Given the description of an element on the screen output the (x, y) to click on. 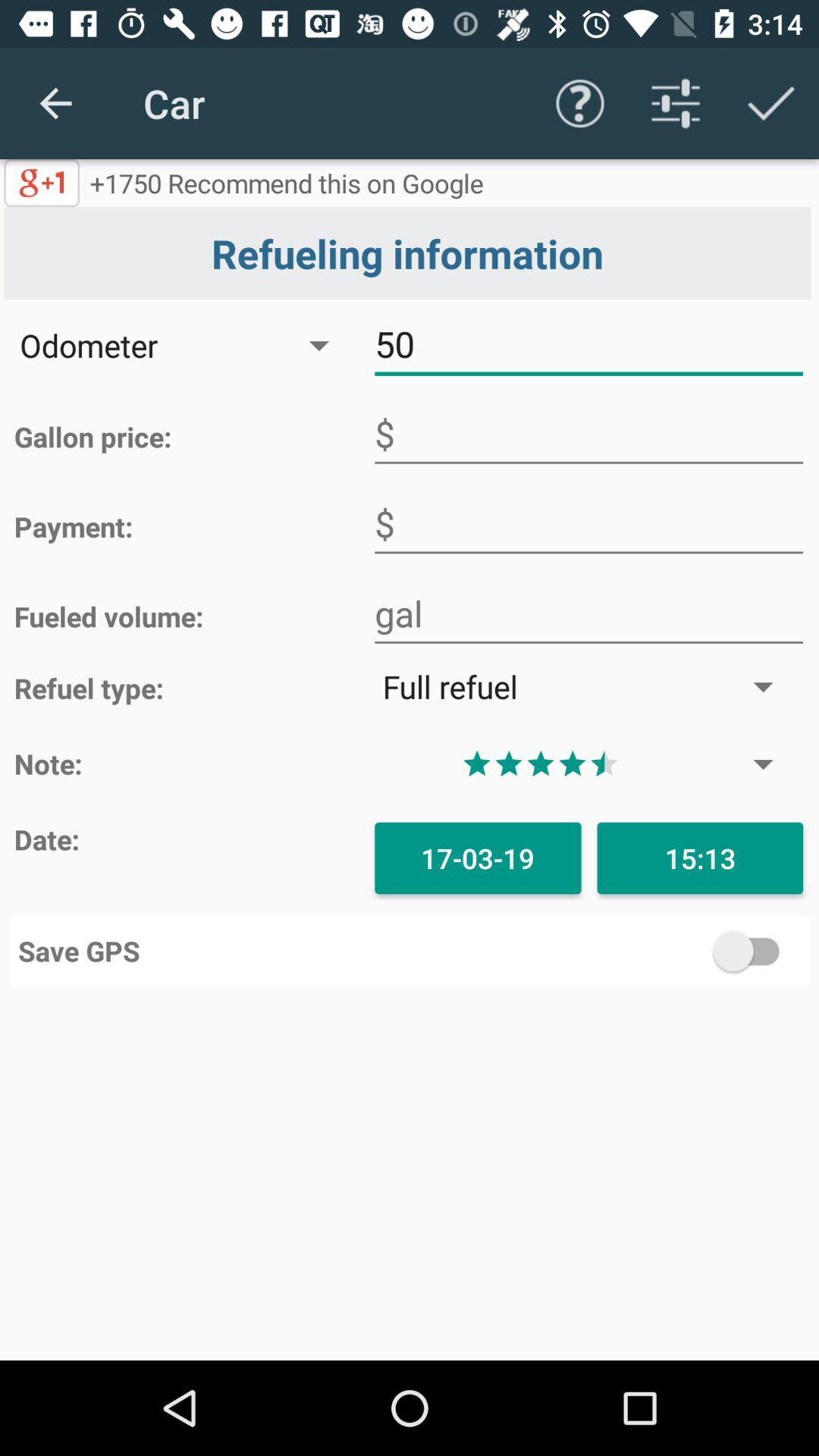
select fueled volume (588, 614)
